Given the description of an element on the screen output the (x, y) to click on. 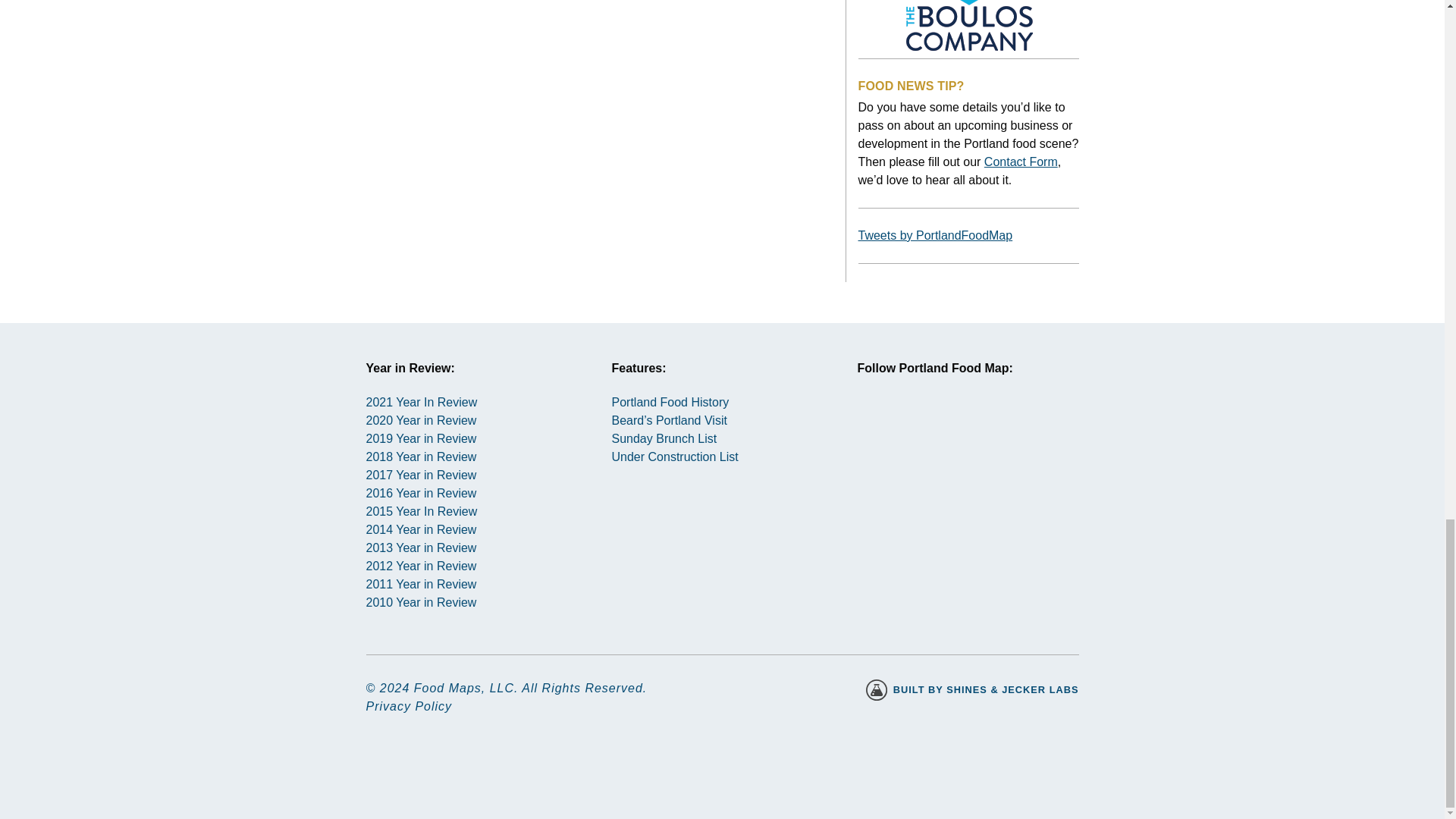
RSS icon (992, 427)
Twitter icon (938, 427)
Instagram icon (882, 427)
